Given the description of an element on the screen output the (x, y) to click on. 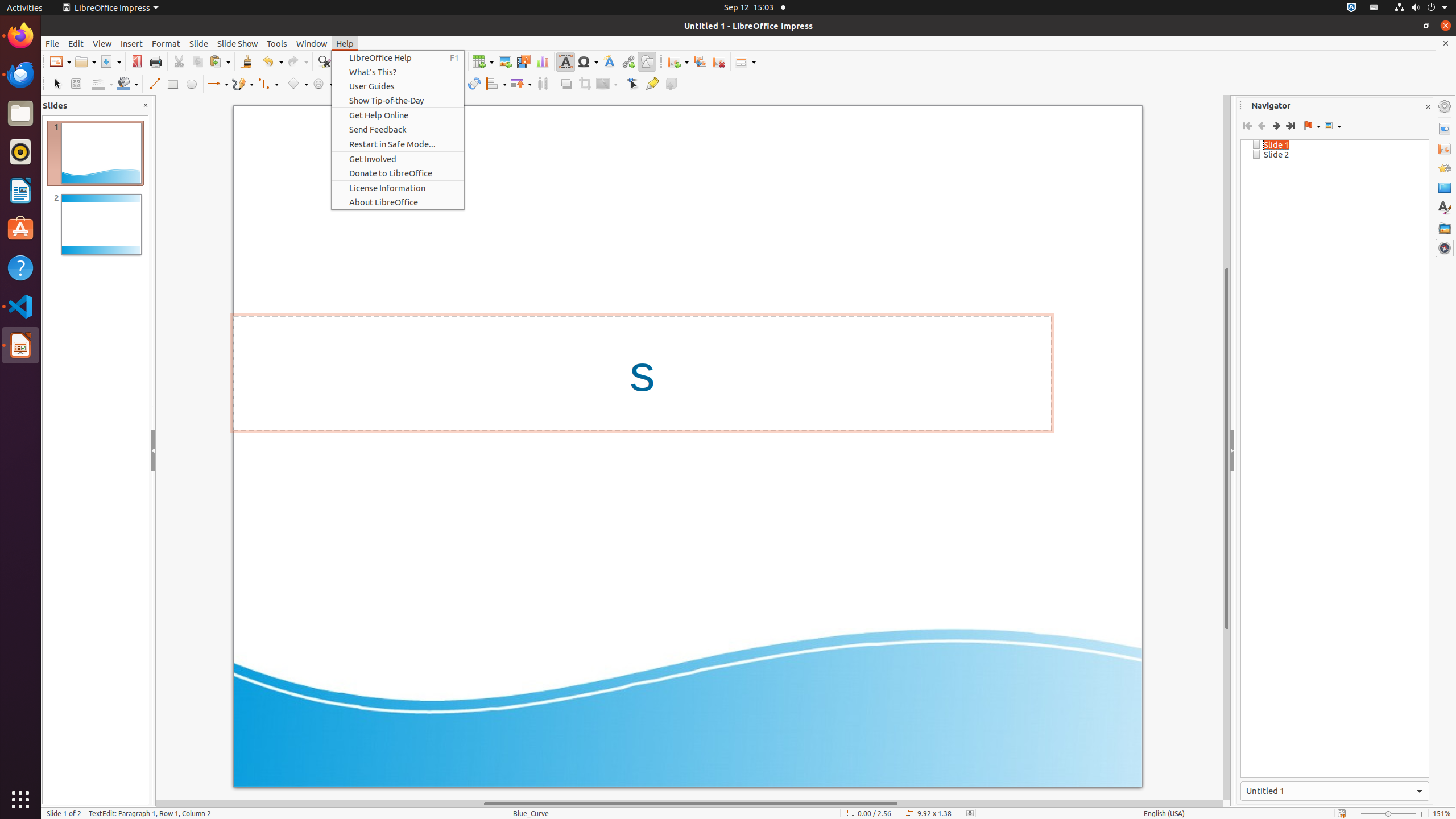
Send Feedback Element type: menu-item (397, 129)
Close Sidebar Deck Element type: push-button (1427, 106)
Files Element type: push-button (20, 113)
First Slide Element type: push-button (1247, 125)
